Given the description of an element on the screen output the (x, y) to click on. 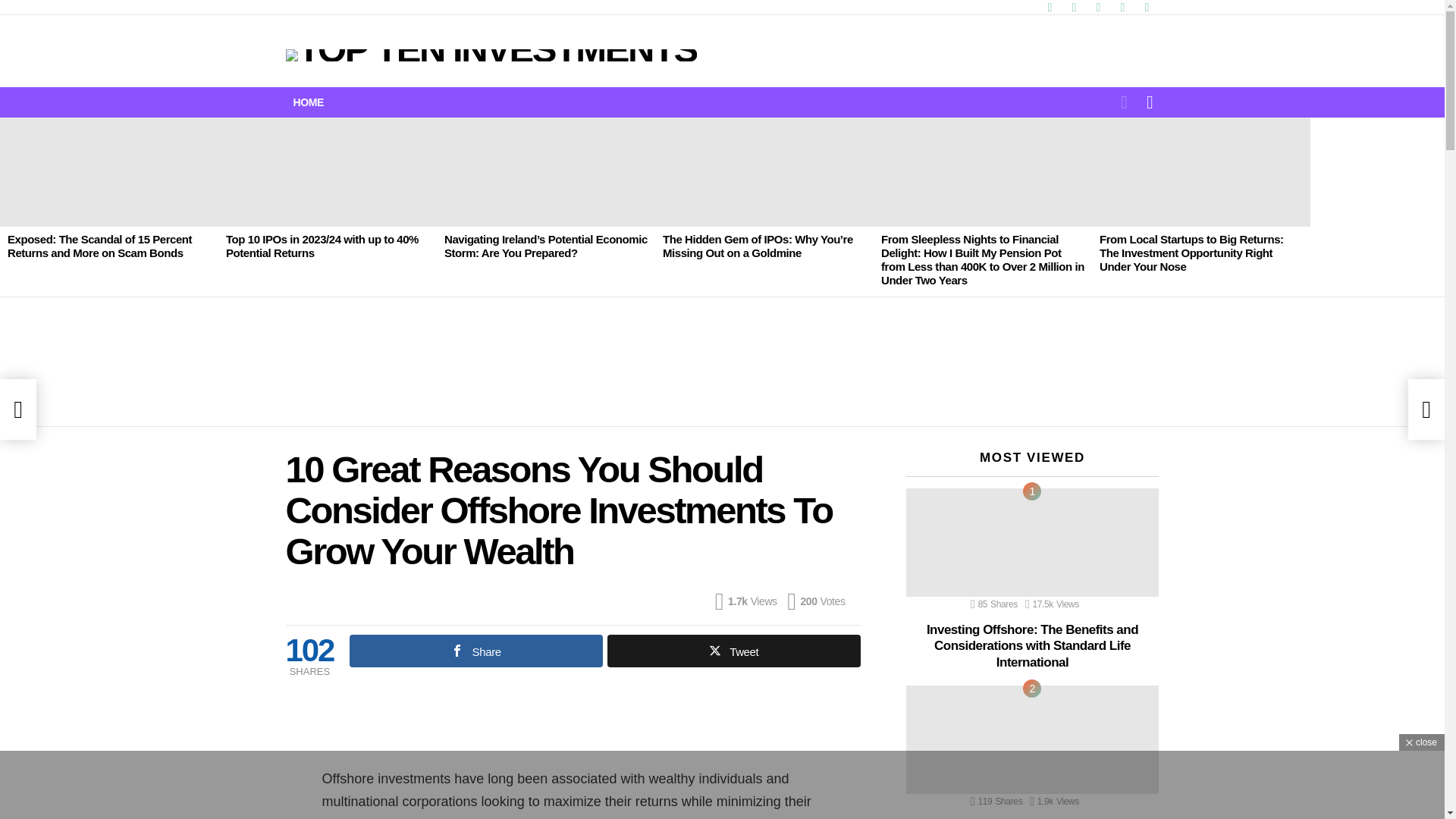
instagram (1097, 7)
facebook (1048, 7)
Tweet (733, 650)
pinterest (1121, 7)
Share (475, 650)
